Given the description of an element on the screen output the (x, y) to click on. 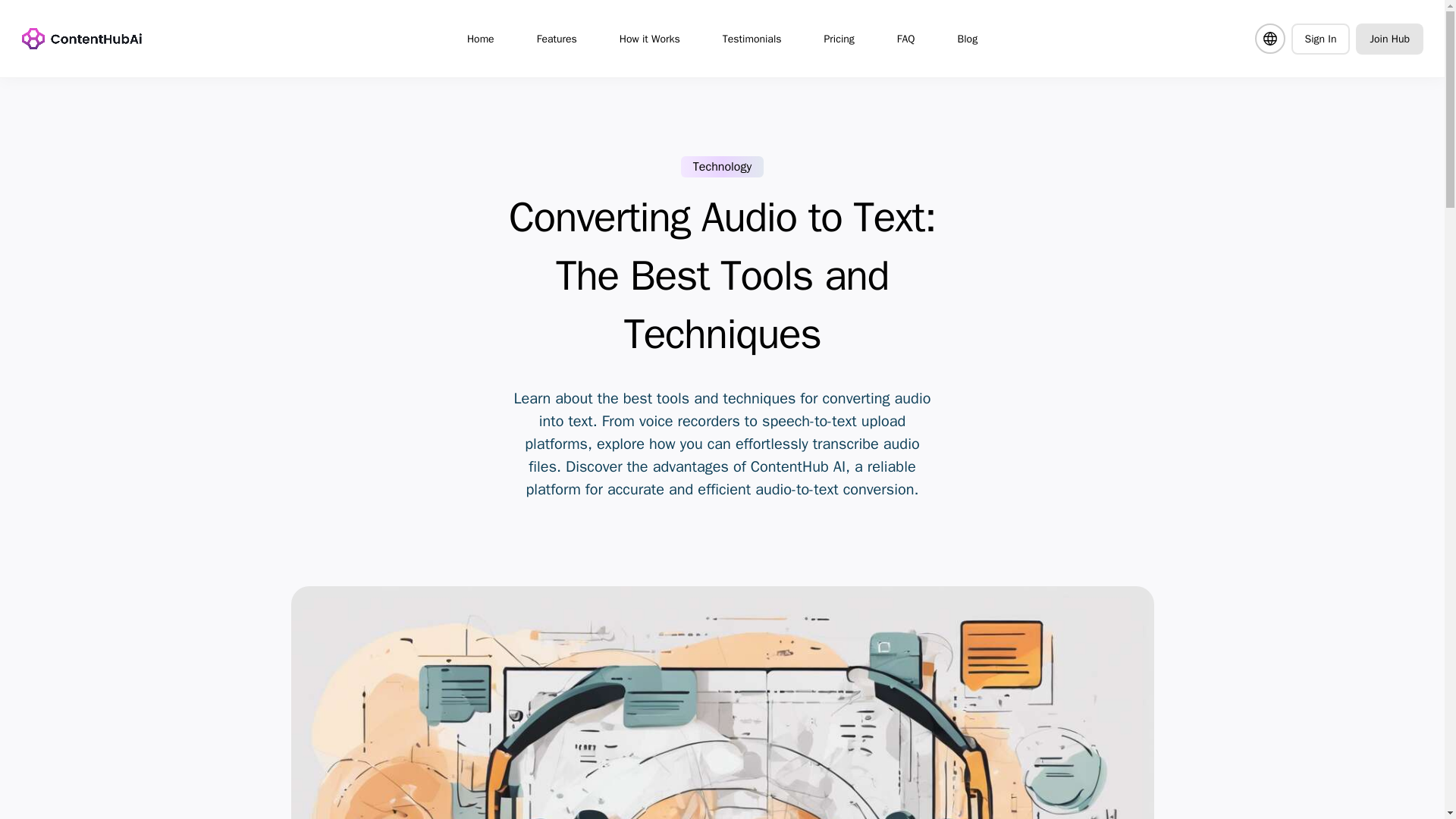
How it Works (649, 38)
Features (556, 38)
Testimonials (751, 38)
Home (481, 38)
Technology (721, 166)
Join Hub (1389, 38)
Pricing (839, 38)
FAQ (905, 38)
Blog (968, 38)
Sign In (1319, 38)
